Given the description of an element on the screen output the (x, y) to click on. 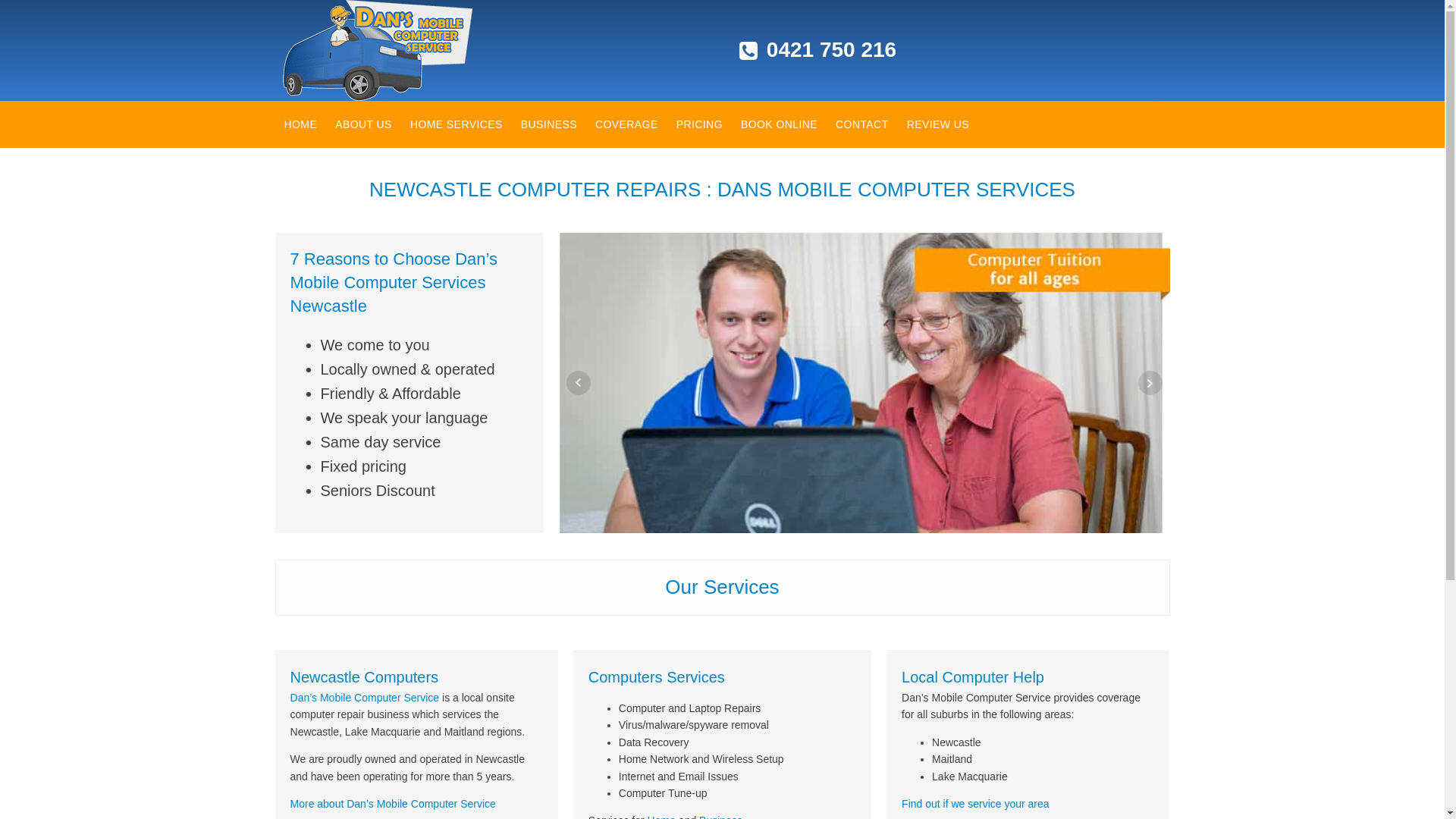
REVIEW US Element type: text (937, 123)
BUSINESS Element type: text (548, 123)
HOME Element type: text (300, 123)
ABOUT US Element type: text (363, 123)
Find out if we service your area Element type: text (975, 803)
CONTACT Element type: text (861, 123)
BOOK ONLINE Element type: text (778, 123)
COVERAGE Element type: text (626, 123)
Next Element type: text (1149, 382)
0421 750 216 Element type: text (831, 49)
Prev Element type: text (577, 382)
PRICING Element type: text (699, 123)
HOME SERVICES Element type: text (456, 123)
